Given the description of an element on the screen output the (x, y) to click on. 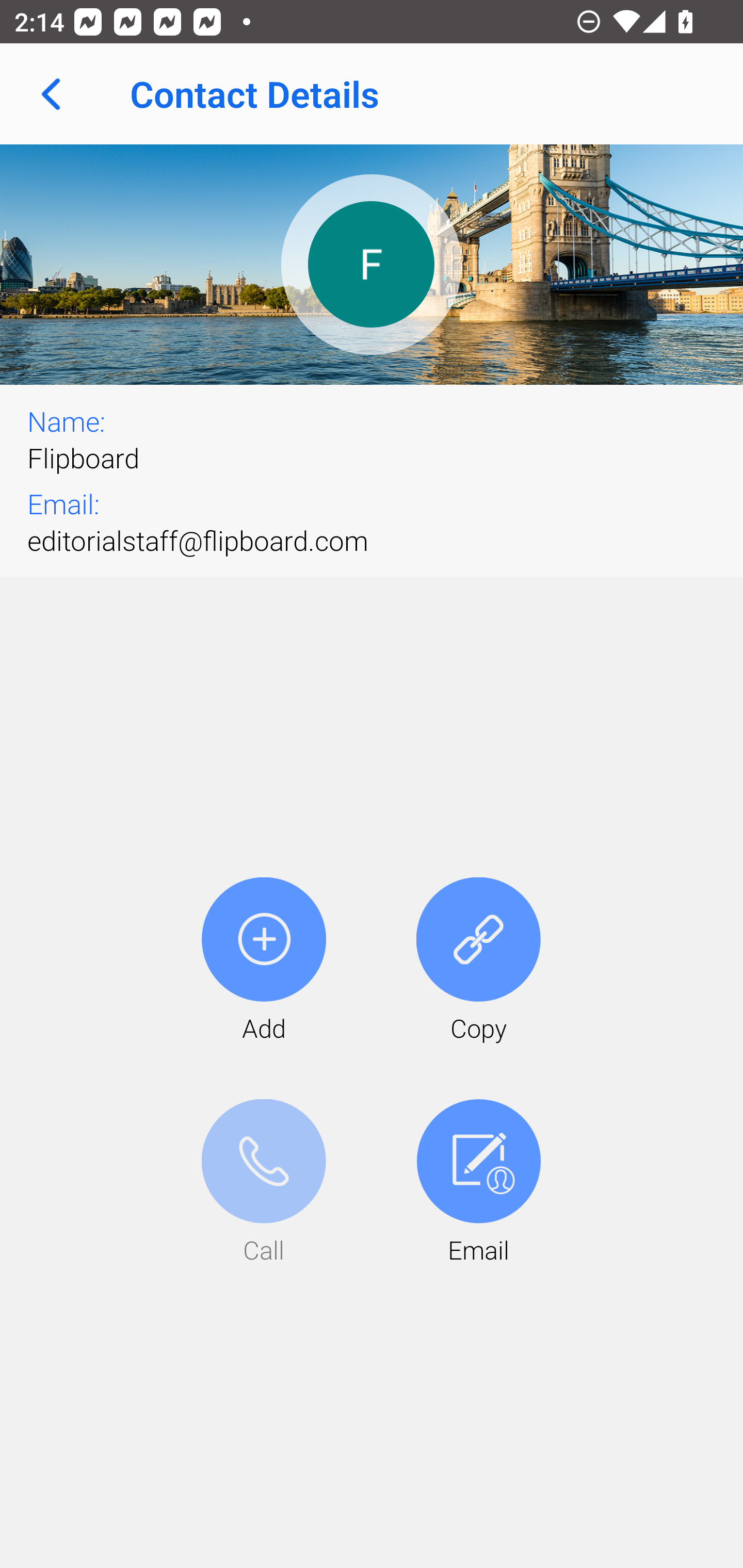
Navigate up (50, 93)
Add (264, 961)
Copy (478, 961)
Call (264, 1182)
Email (478, 1182)
